Given the description of an element on the screen output the (x, y) to click on. 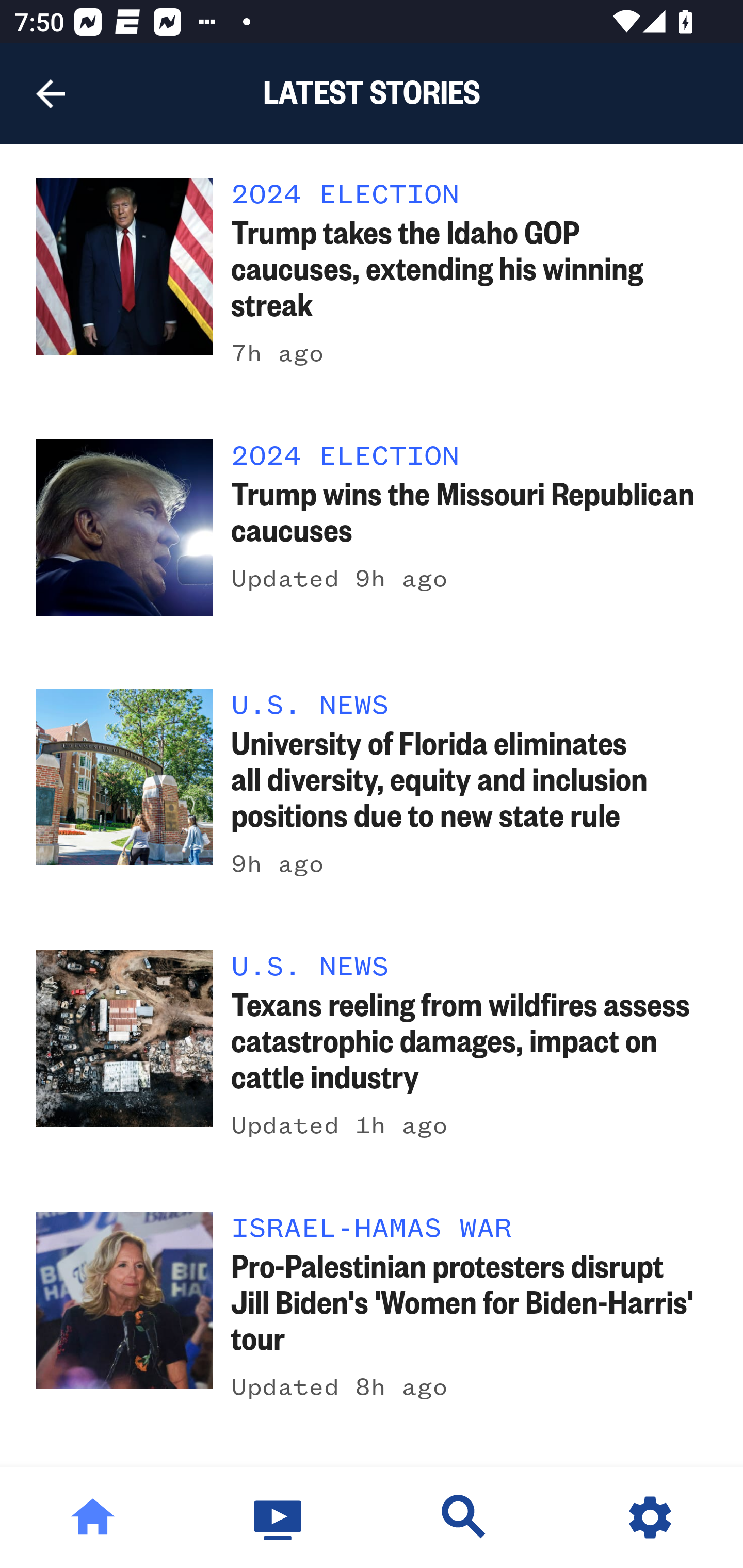
Navigate up (50, 93)
Watch (278, 1517)
Discover (464, 1517)
Settings (650, 1517)
